Given the description of an element on the screen output the (x, y) to click on. 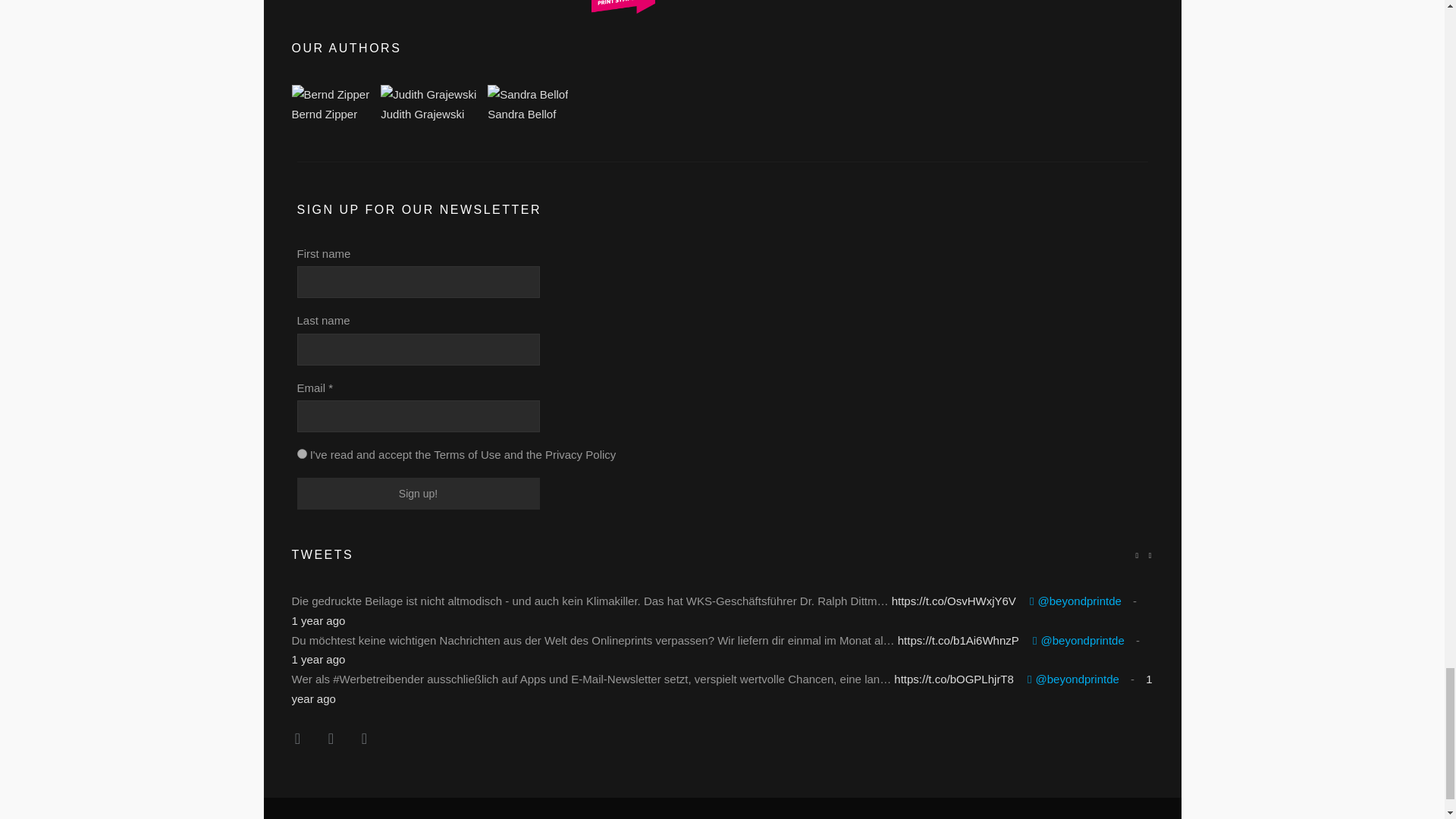
I've read and accept the Terms of Use and the Privacy Policy (302, 453)
Sign up! (418, 493)
